Given the description of an element on the screen output the (x, y) to click on. 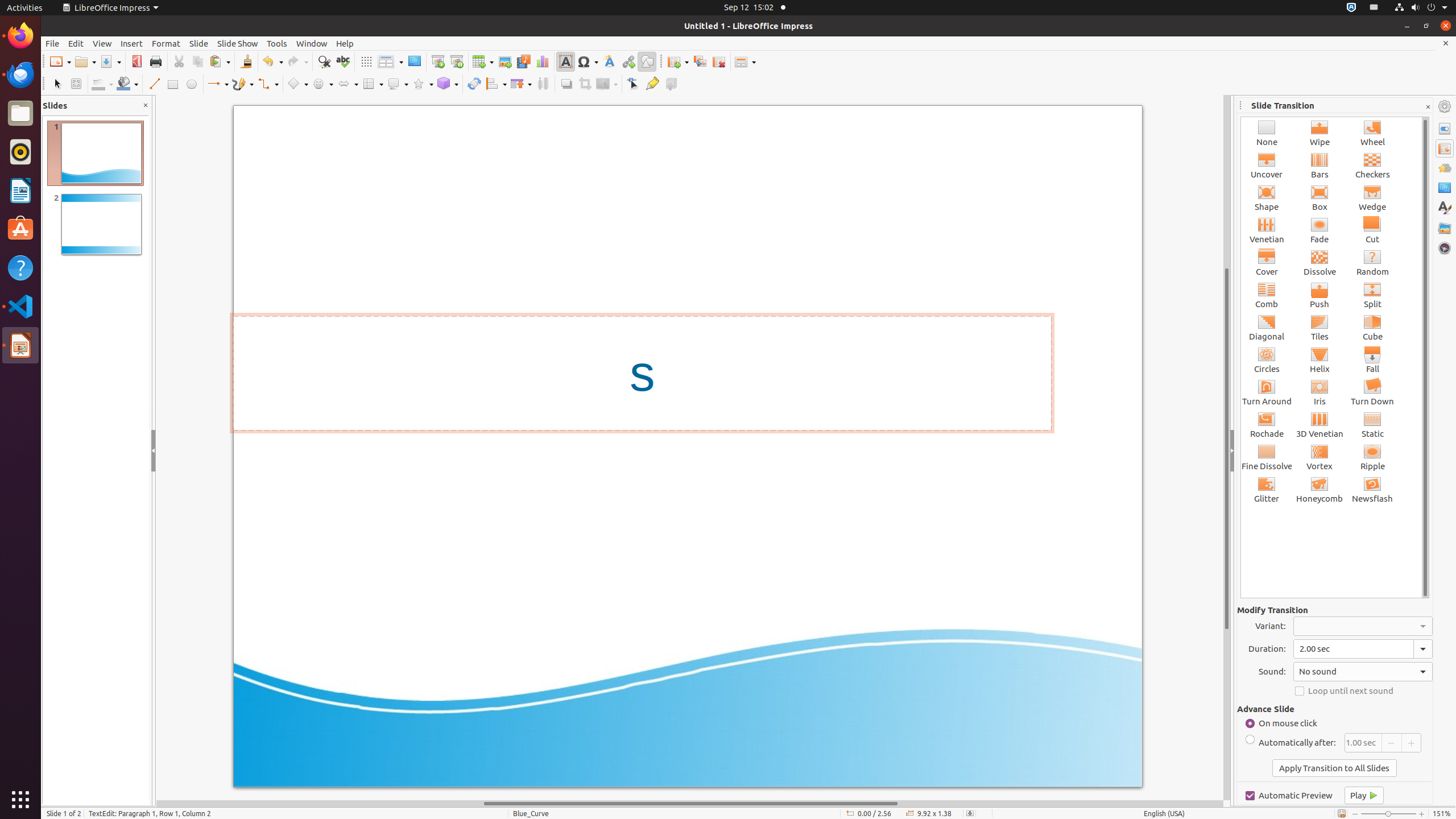
Line Element type: push-button (153, 83)
Filter Element type: push-button (606, 83)
Master Slide Element type: push-button (413, 61)
Slide Element type: menu (198, 43)
View Element type: menu (102, 43)
